Given the description of an element on the screen output the (x, y) to click on. 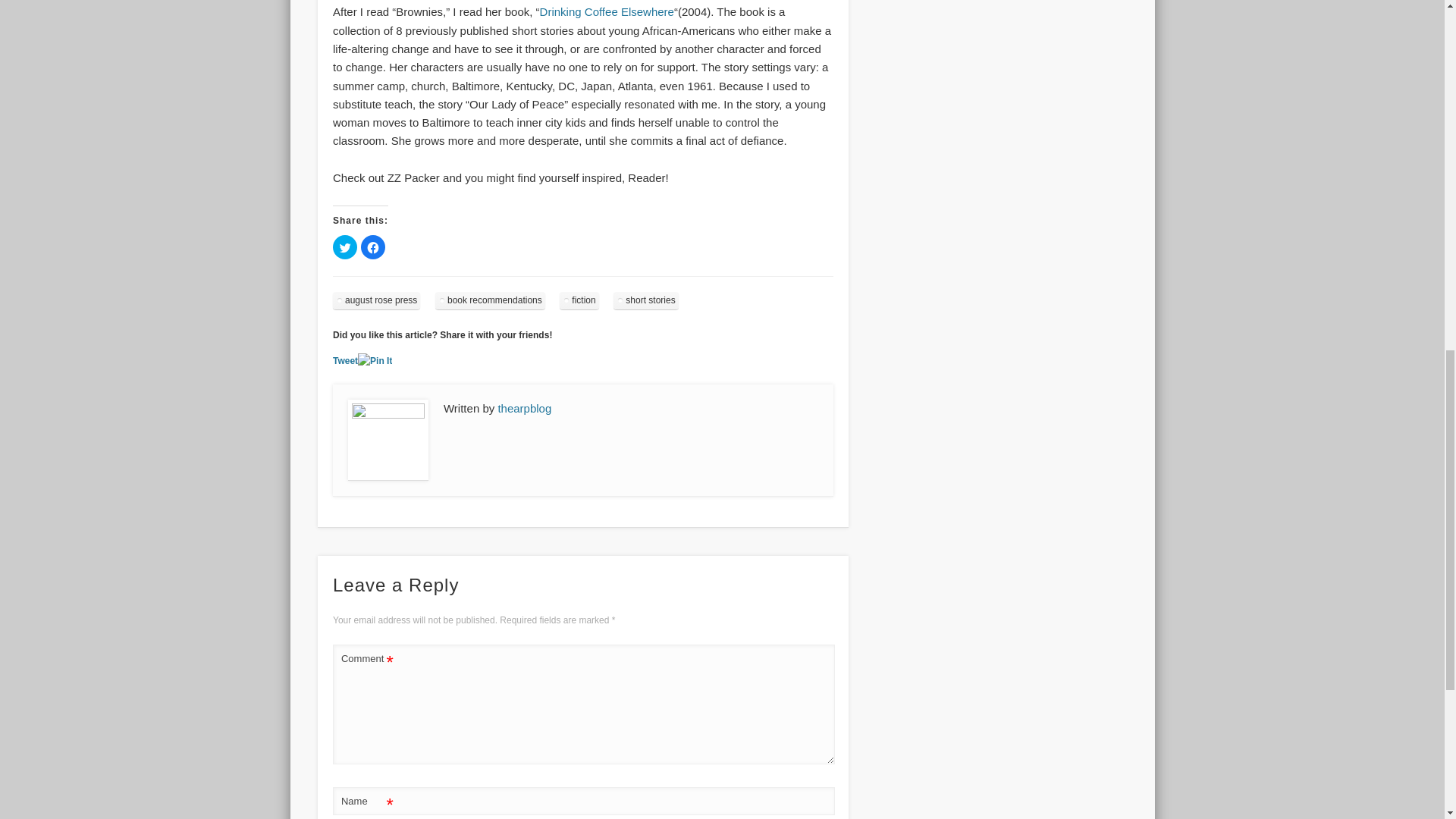
august rose press (376, 300)
Posts by thearpblog (524, 408)
Pin It (374, 360)
Tweet (345, 360)
thearpblog (524, 408)
Drinking Coffee Elsewhere (607, 11)
book recommendations (489, 300)
fiction (578, 300)
Click to share on Twitter (344, 247)
Click to share on Facebook (373, 247)
short stories (645, 300)
